Given the description of an element on the screen output the (x, y) to click on. 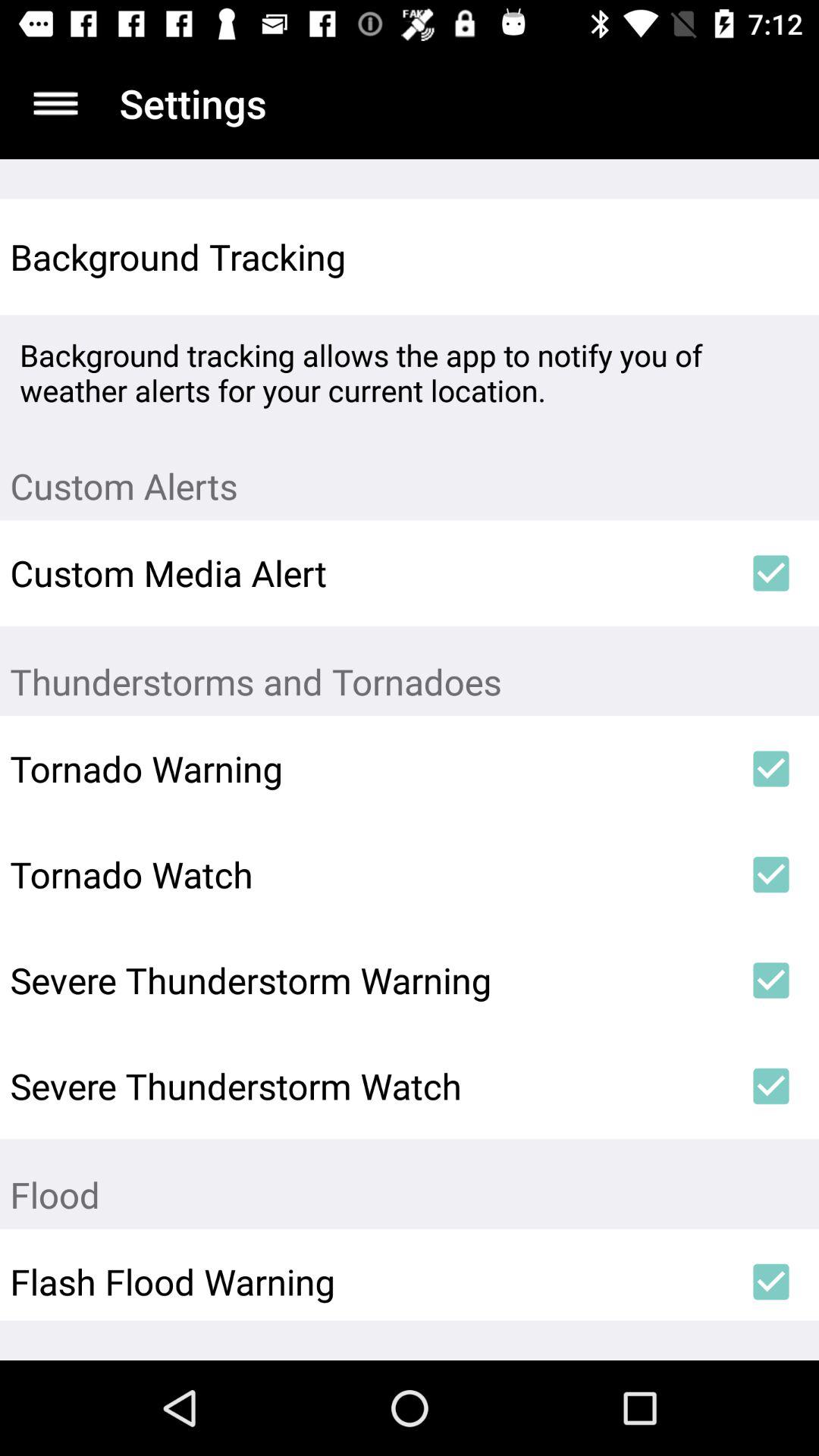
access menu (55, 103)
